Given the description of an element on the screen output the (x, y) to click on. 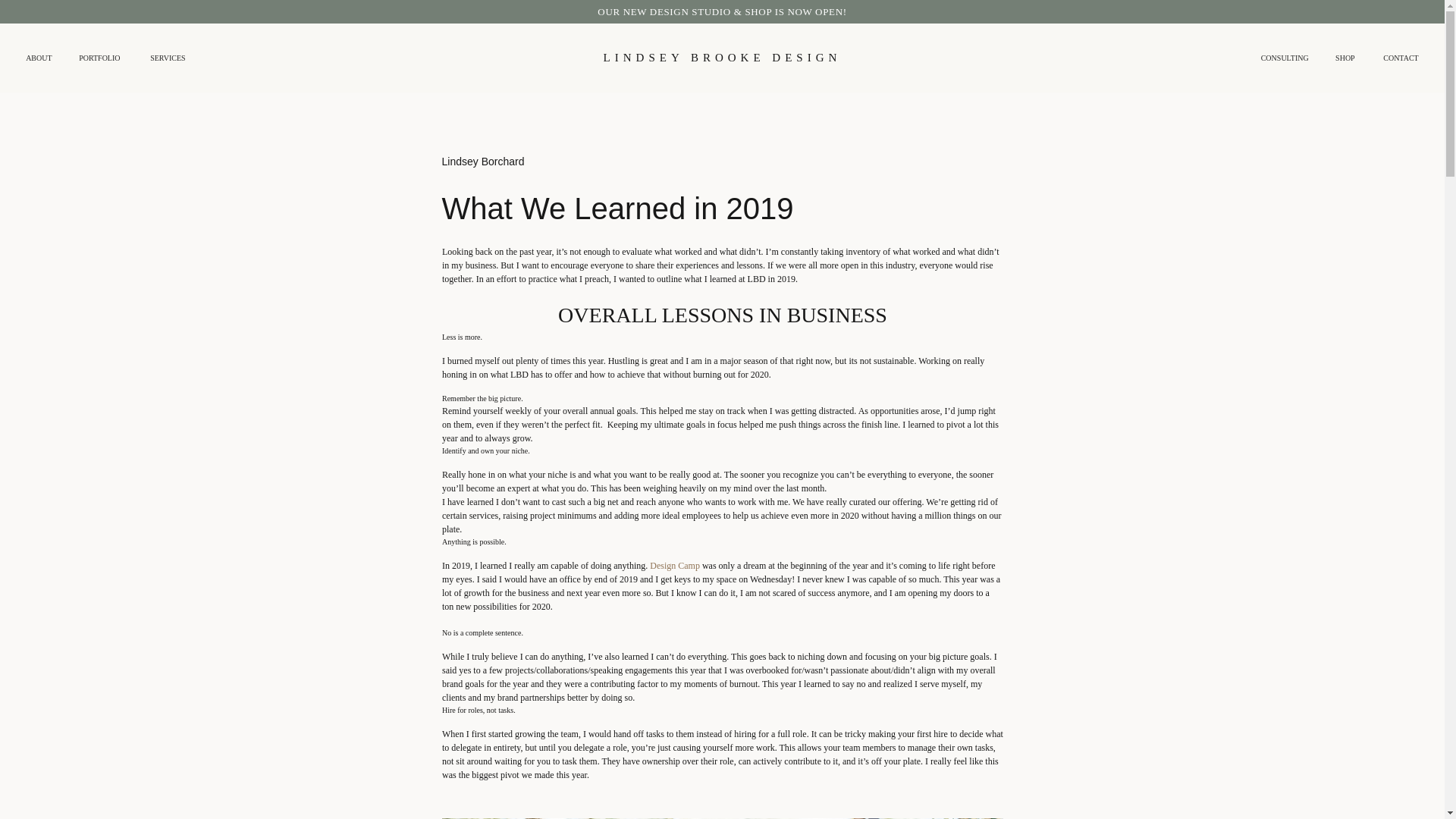
SERVICES (170, 58)
ABOUT (40, 58)
LINDSEY BROOKE DESIGN (722, 57)
Design Camp (674, 565)
SHOP (1343, 58)
CONTACT (1398, 58)
PORTFOLIO (102, 58)
Lindsey Borchard (482, 161)
CONSULTING (1281, 58)
